Given the description of an element on the screen output the (x, y) to click on. 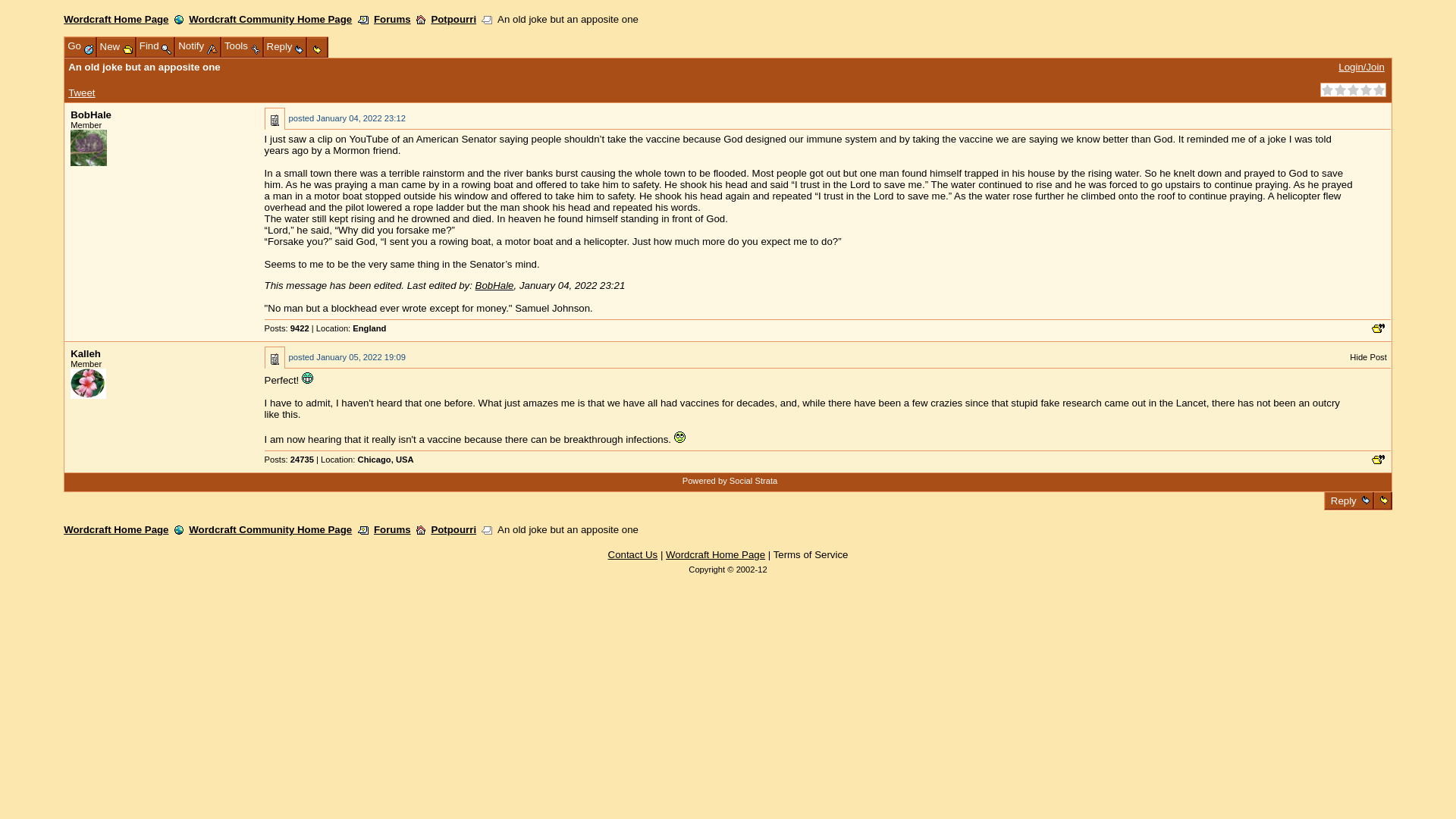
Hop To Forum Categories (420, 529)
Hop To Forum Categories (420, 19)
GO (309, 172)
Forums (392, 19)
Potpourri (453, 19)
Picture of BobHale (87, 146)
Reply With Quote (1377, 327)
Reply With Quote (1377, 459)
Wordcraft Community Home Page (270, 19)
Picture of Kalleh (87, 383)
Wordcraft Home Page (116, 19)
